Given the description of an element on the screen output the (x, y) to click on. 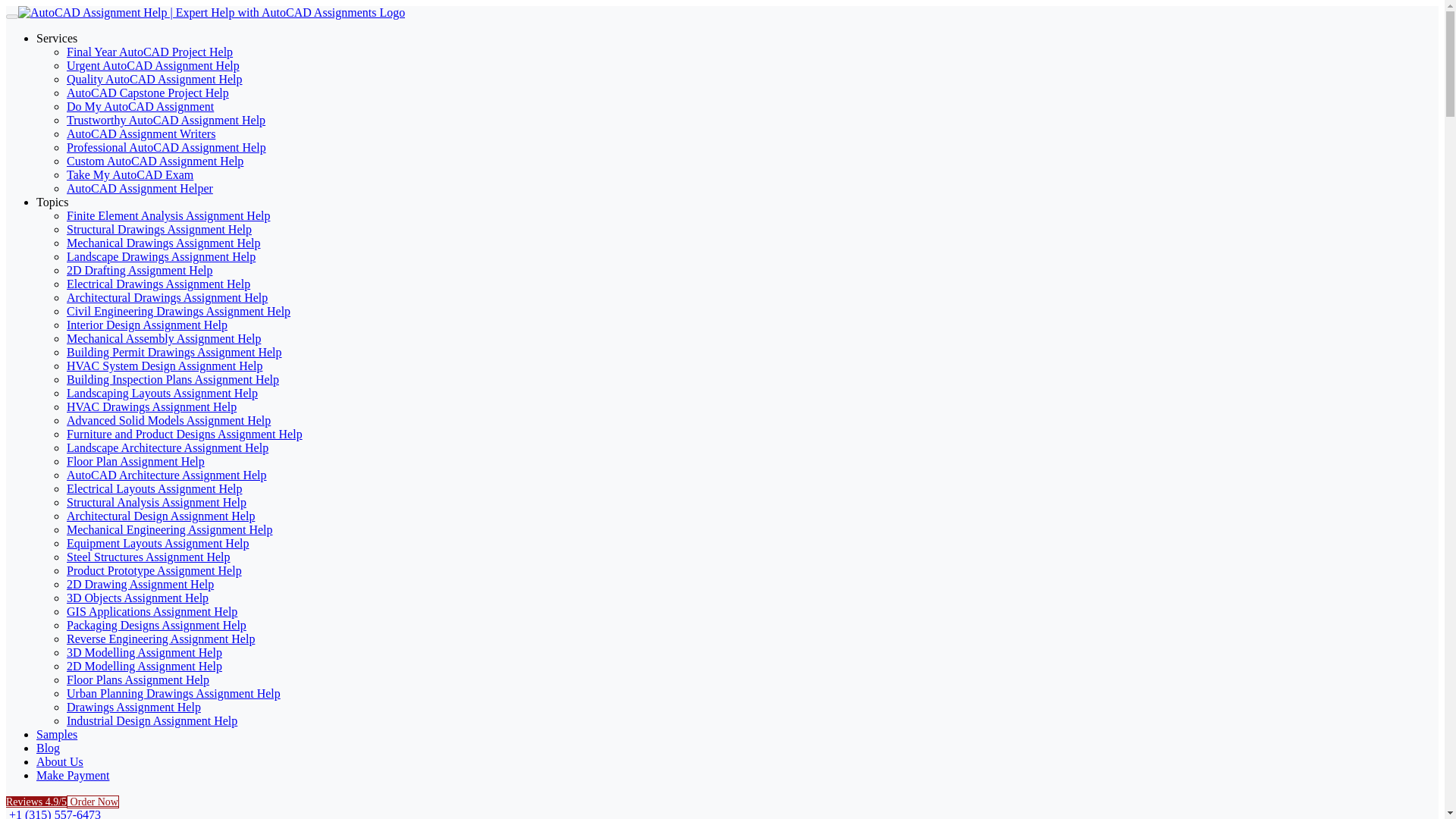
Advanced Solid Models Assignment Help (168, 420)
Product Prototype Assignment Help (153, 570)
AutoCAD Assignment Writers (140, 133)
Equipment Layouts Assignment Help (157, 543)
Landscaping Layouts Assignment Help (161, 392)
Building Inspection Plans Assignment Help (172, 379)
Landscape Architecture Assignment Help (166, 447)
Quality AutoCAD Assignment Help (154, 78)
2D Drafting Assignment Help (139, 269)
Civil Engineering Drawings Assignment Help (177, 310)
